Given the description of an element on the screen output the (x, y) to click on. 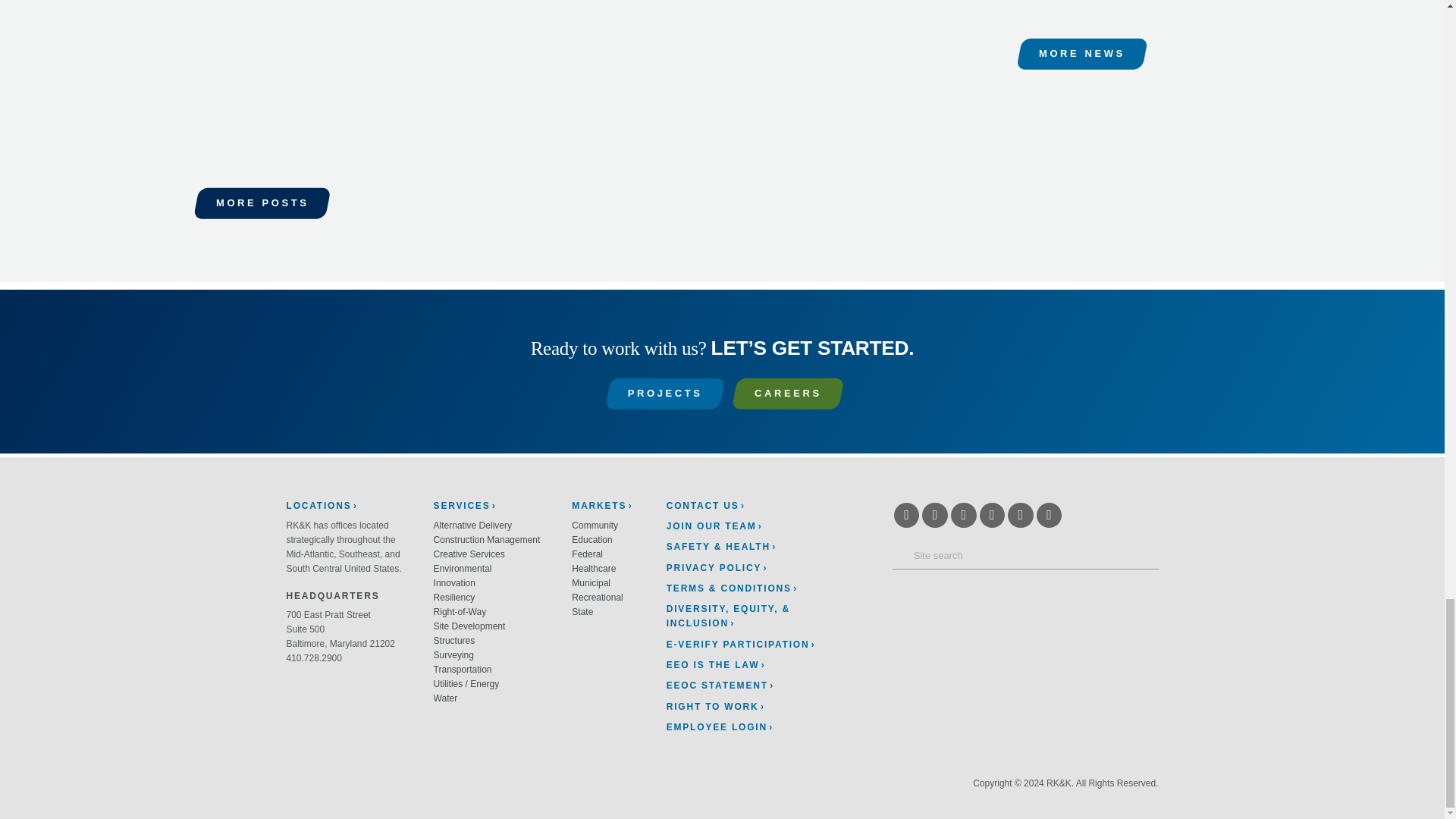
Search for: (1025, 555)
Search (900, 555)
Search (900, 555)
